Given the description of an element on the screen output the (x, y) to click on. 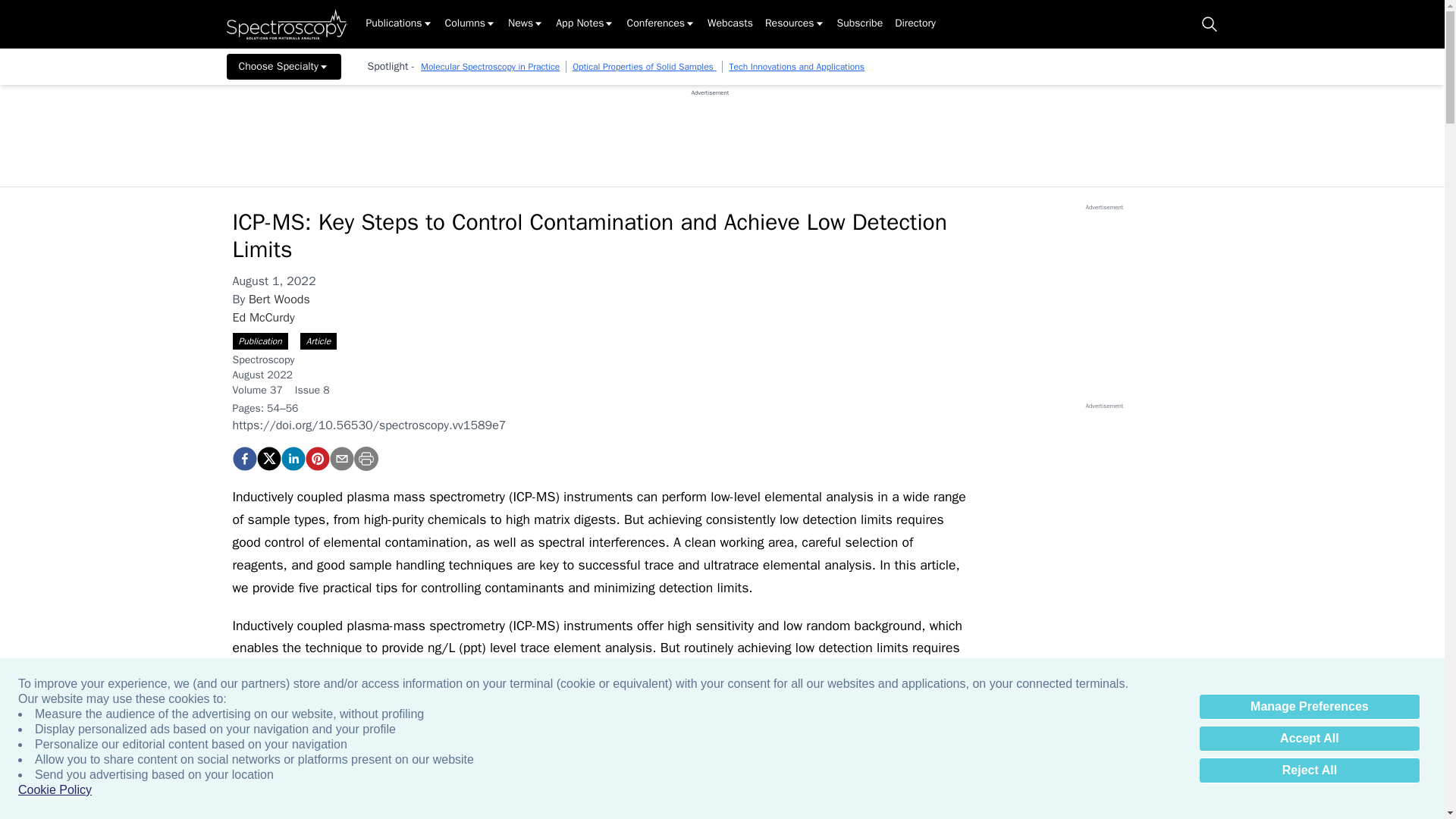
3rd party ad content (709, 131)
Publications (398, 23)
Manage Preferences (1309, 706)
Accept All (1309, 738)
App Notes (585, 23)
Columns (470, 23)
Cookie Policy (54, 789)
Conferences (660, 23)
News (525, 23)
Reject All (1309, 769)
